Given the description of an element on the screen output the (x, y) to click on. 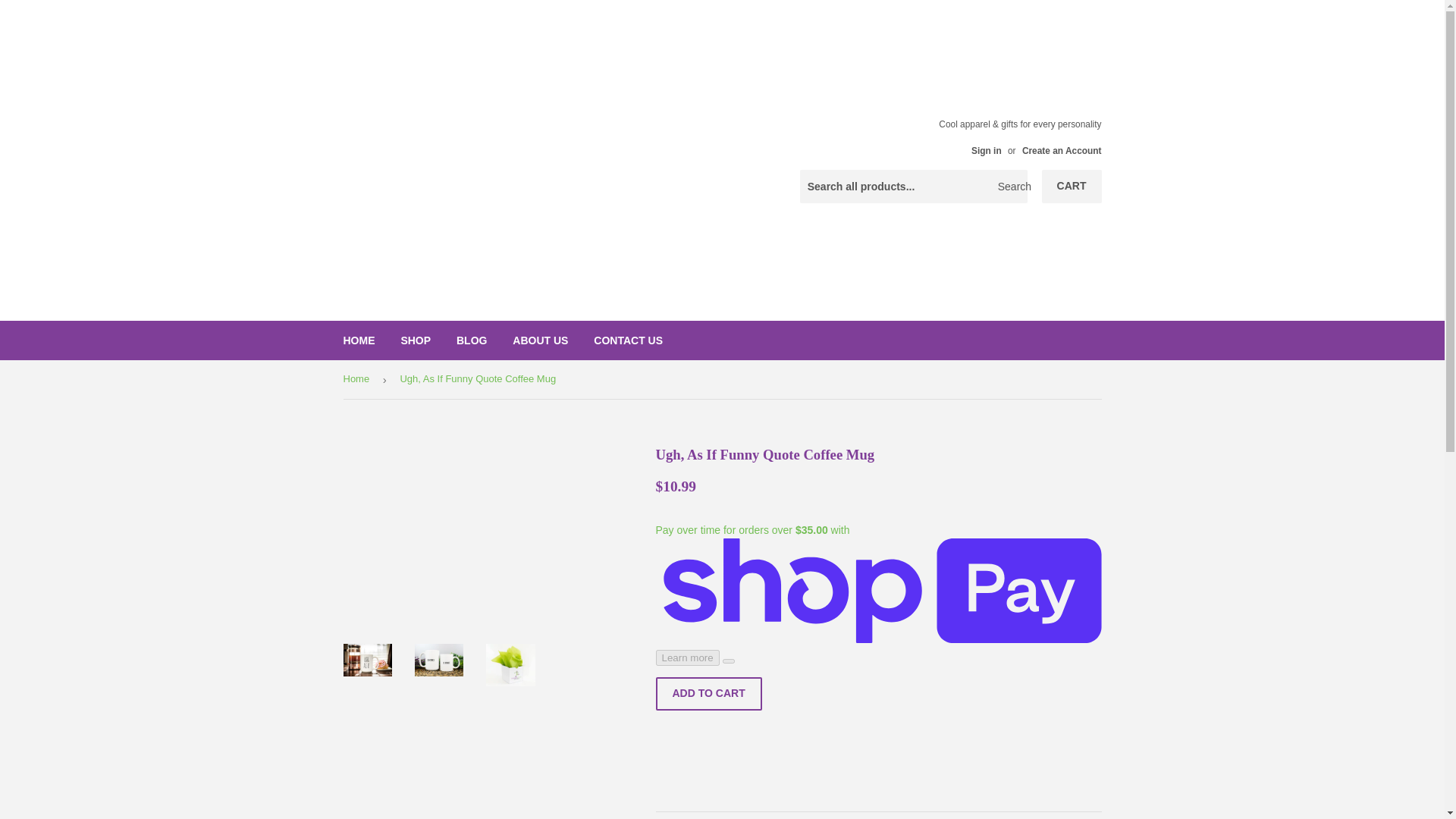
HOME (359, 340)
ABOUT US (539, 340)
Sign in (986, 150)
SHOP (415, 340)
BLOG (471, 340)
ADD TO CART (708, 693)
CART (1072, 186)
Create an Account (1062, 150)
Search (1009, 187)
CONTACT US (628, 340)
